Given the description of an element on the screen output the (x, y) to click on. 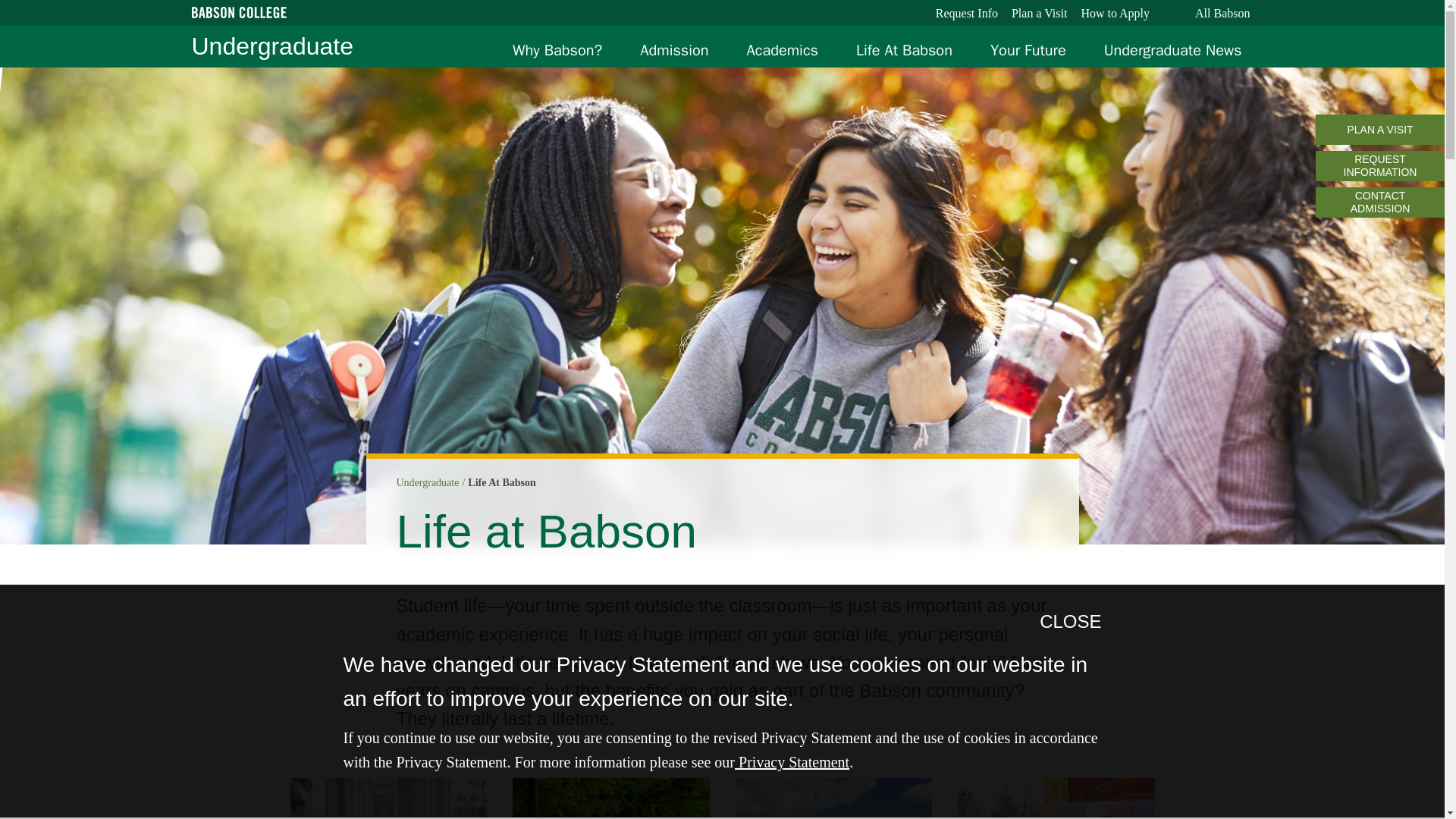
All Babson (1220, 13)
Why Babson? (556, 50)
How to Apply (1115, 13)
Request Info (967, 13)
Admission (673, 50)
Undergraduate (271, 45)
Babson CollegeBabson College logo (237, 13)
Plan a Visit (1039, 13)
Babson CollegeBabson College logo (237, 12)
